Given the description of an element on the screen output the (x, y) to click on. 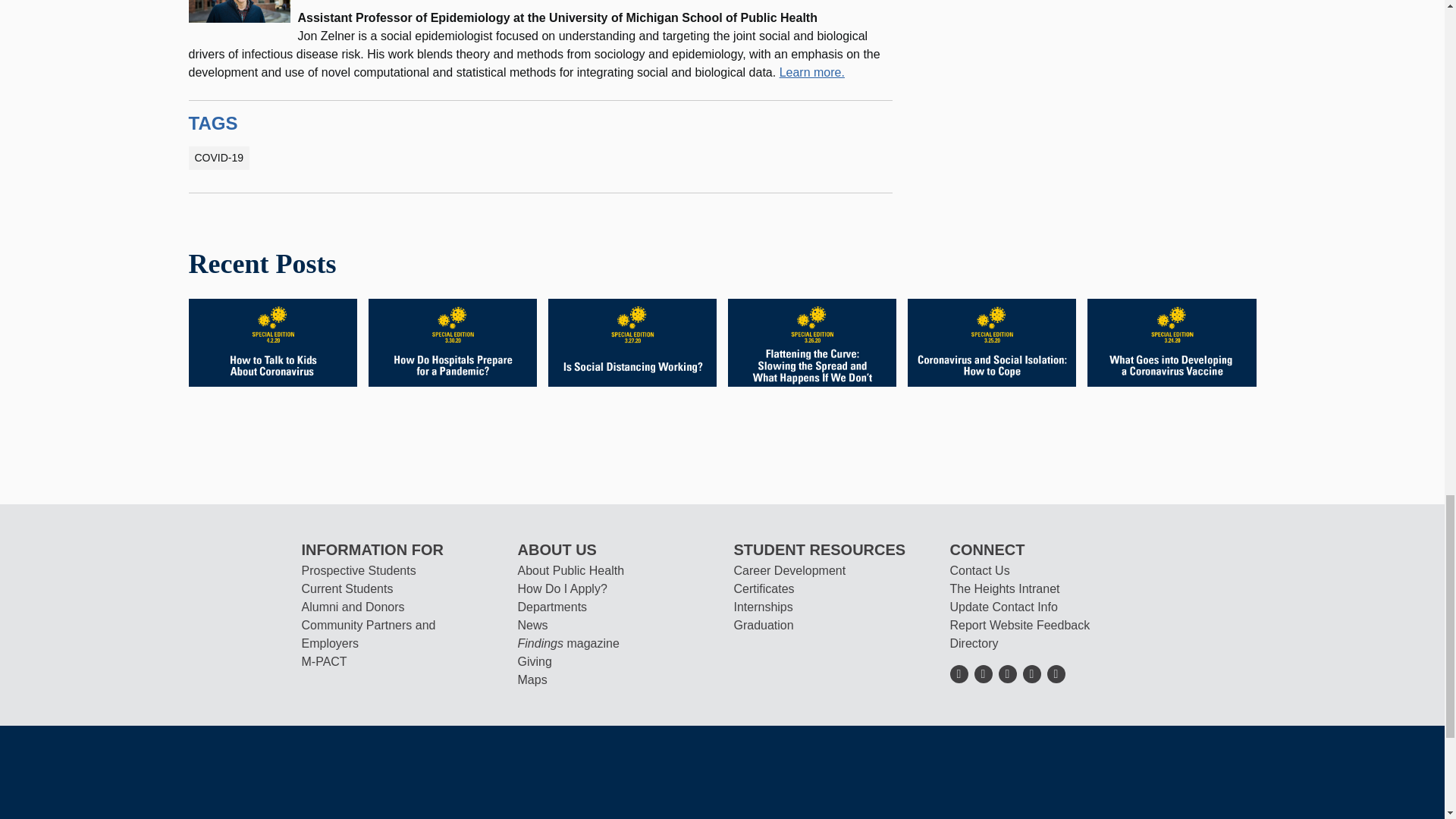
Coronavirus and Social Isolation: How to Cope (991, 341)
What Goes into Developing a Coronavirus Vaccine (1171, 341)
How Do Hospitals Prepare for a Pandemic? (452, 341)
 Is Social Distancing Working? (632, 341)
How to Talk to Kids about Coronavirus (271, 341)
